Given the description of an element on the screen output the (x, y) to click on. 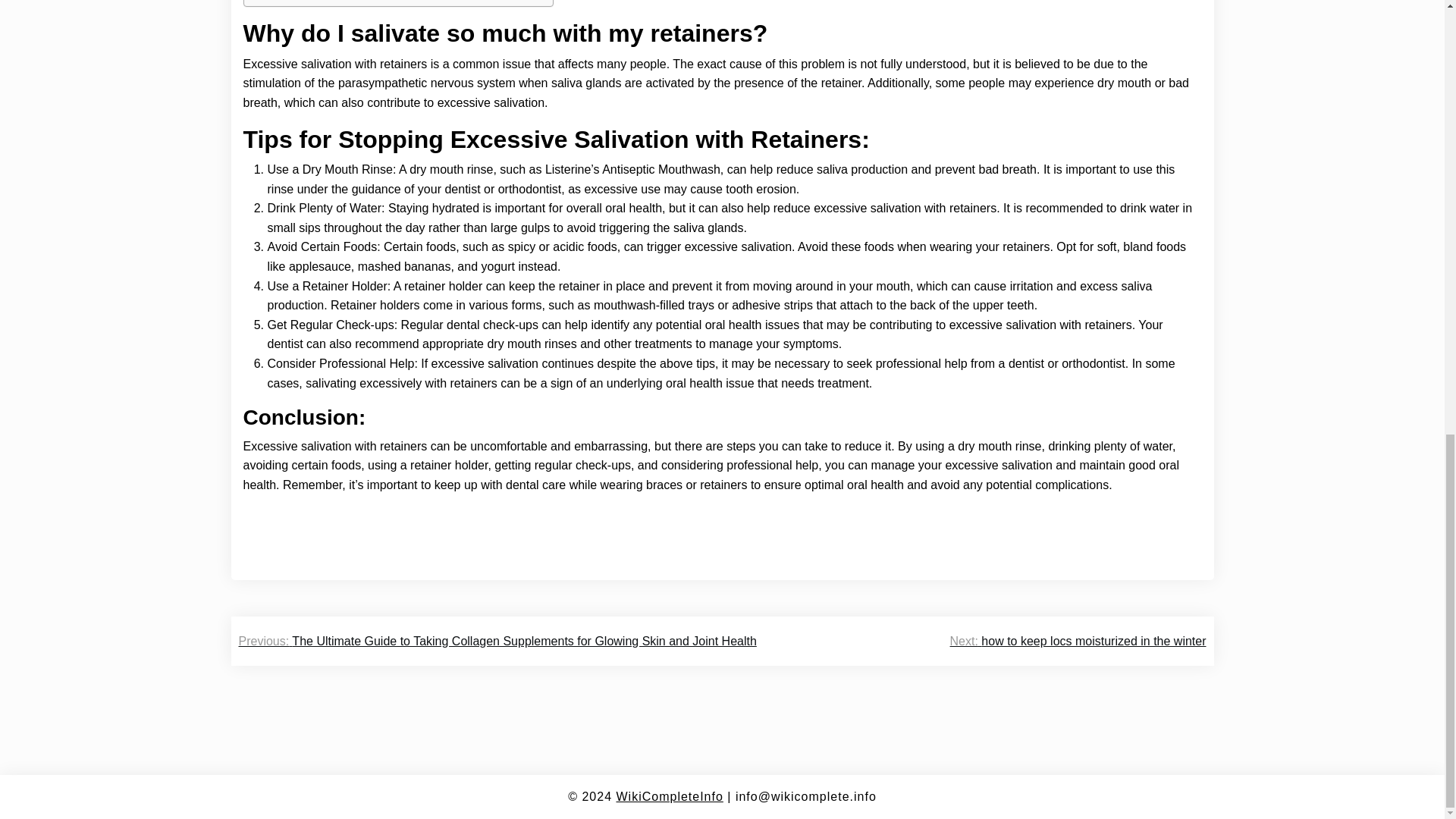
Next: how to keep locs moisturized in the winter (1078, 641)
WikiCompleteInfo (668, 796)
